Given the description of an element on the screen output the (x, y) to click on. 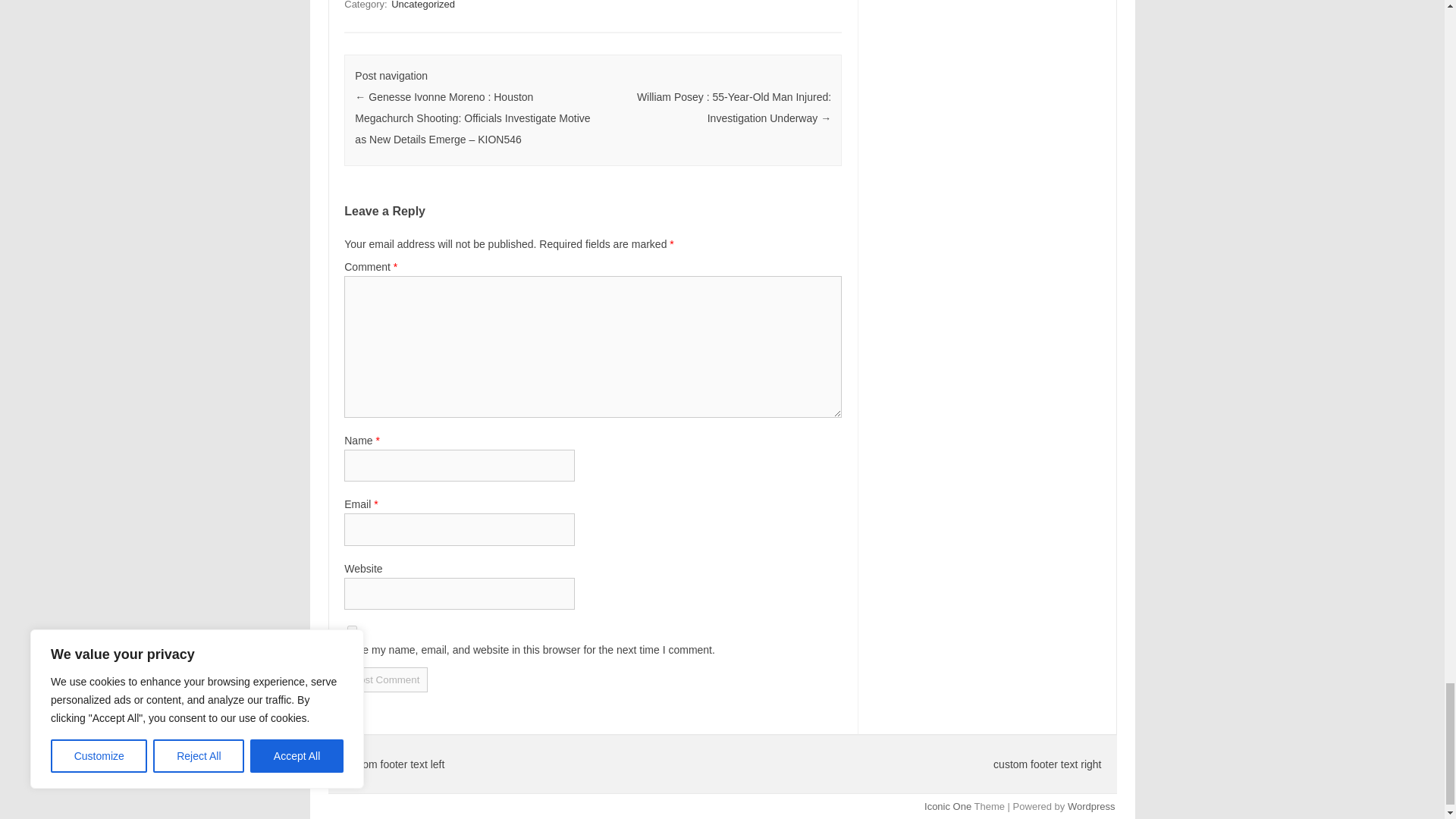
yes (351, 630)
Post Comment (385, 679)
Uncategorized (423, 5)
